Given the description of an element on the screen output the (x, y) to click on. 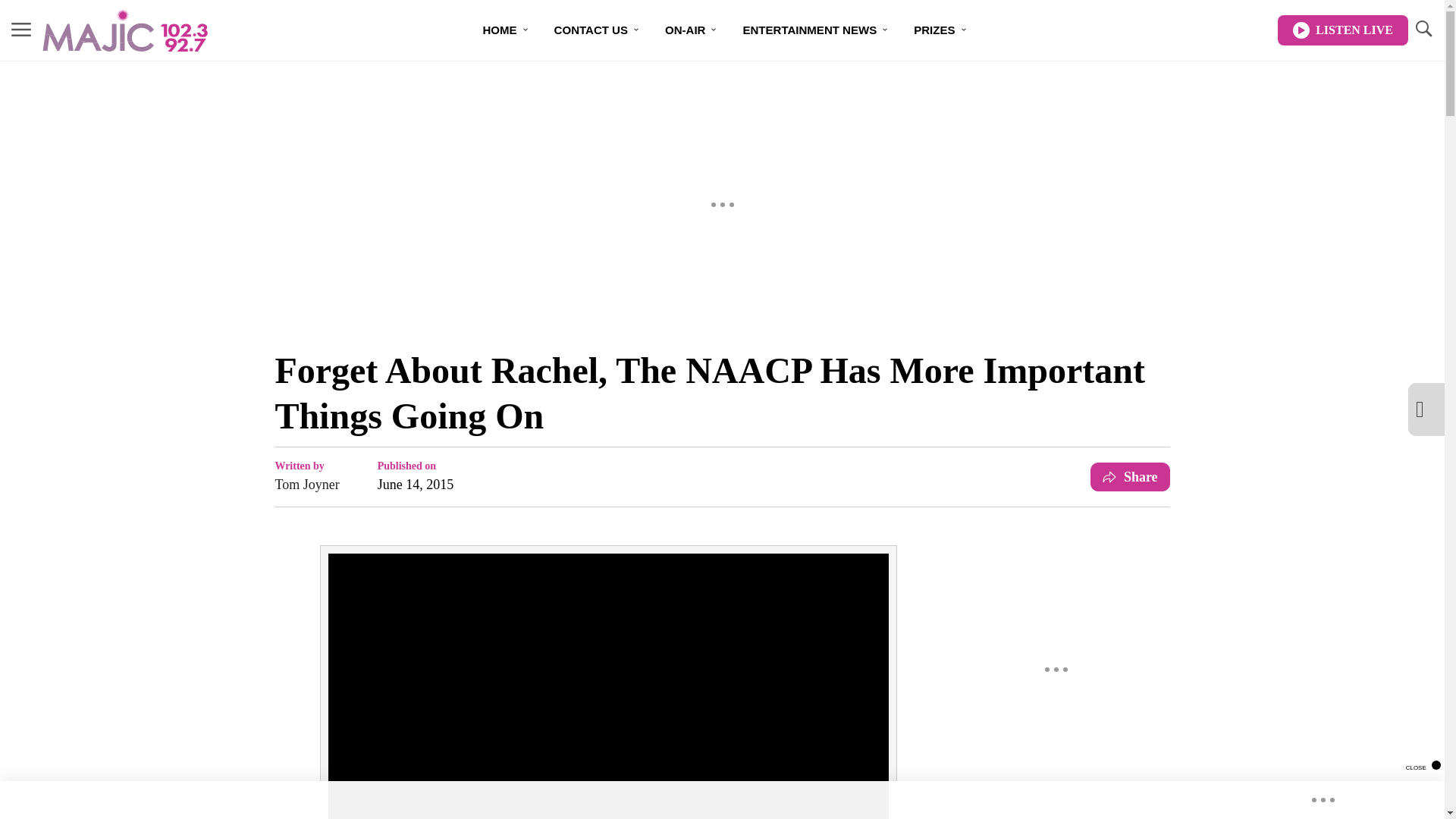
MENU (20, 30)
LISTEN LIVE (1342, 30)
TOGGLE SEARCH (1422, 30)
Tom Joyner (307, 484)
ENTERTAINMENT NEWS (815, 30)
Share (1130, 476)
ON-AIR (691, 30)
PRIZES (940, 30)
TOGGLE SEARCH (1422, 28)
MENU (20, 29)
